Given the description of an element on the screen output the (x, y) to click on. 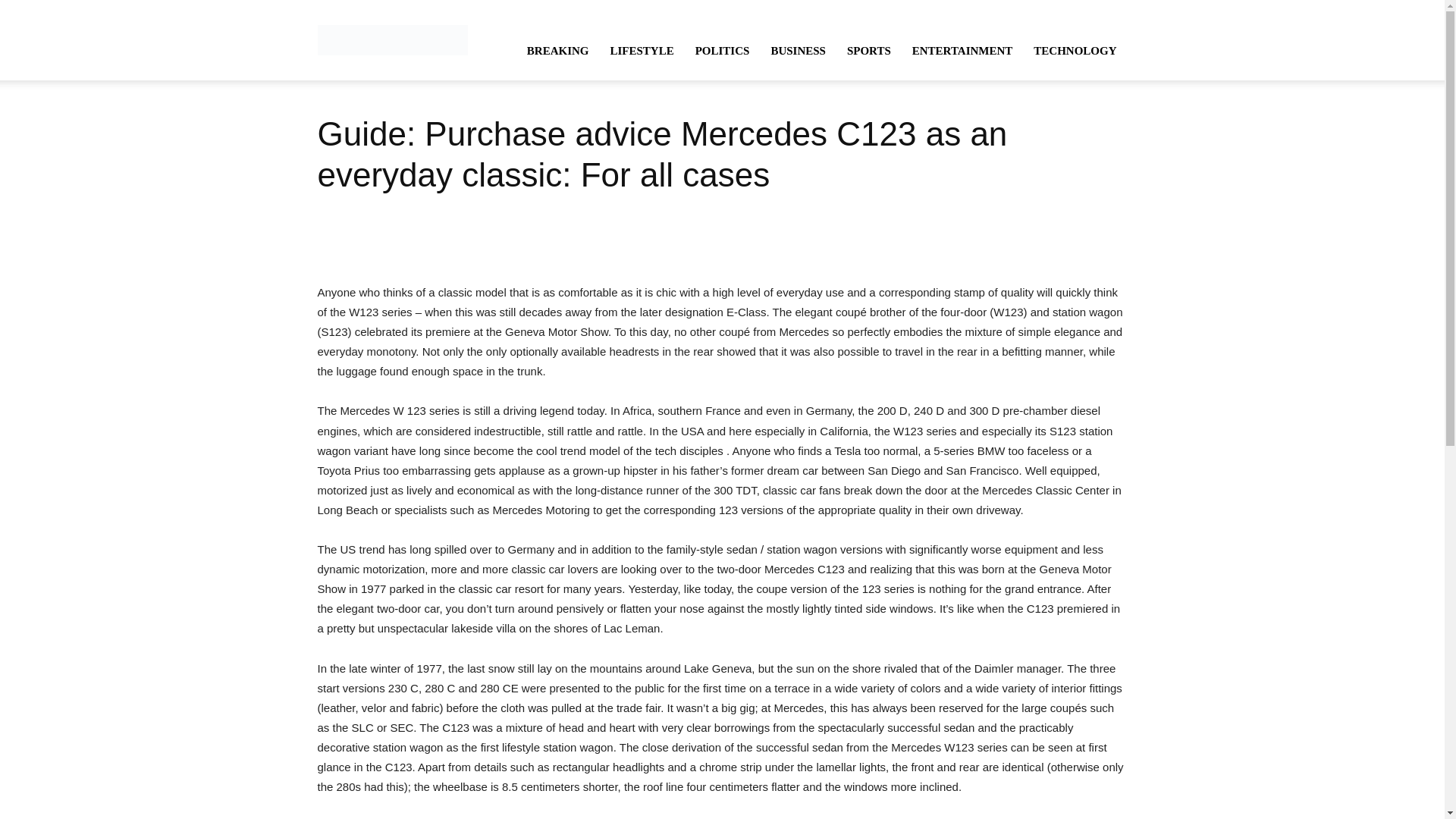
Indo Newyork (392, 39)
SPORTS (868, 50)
BUSINESS (797, 50)
TECHNOLOGY (1074, 50)
BREAKING (557, 50)
POLITICS (722, 50)
ENTERTAINMENT (962, 50)
LIFESTYLE (641, 50)
